Given the description of an element on the screen output the (x, y) to click on. 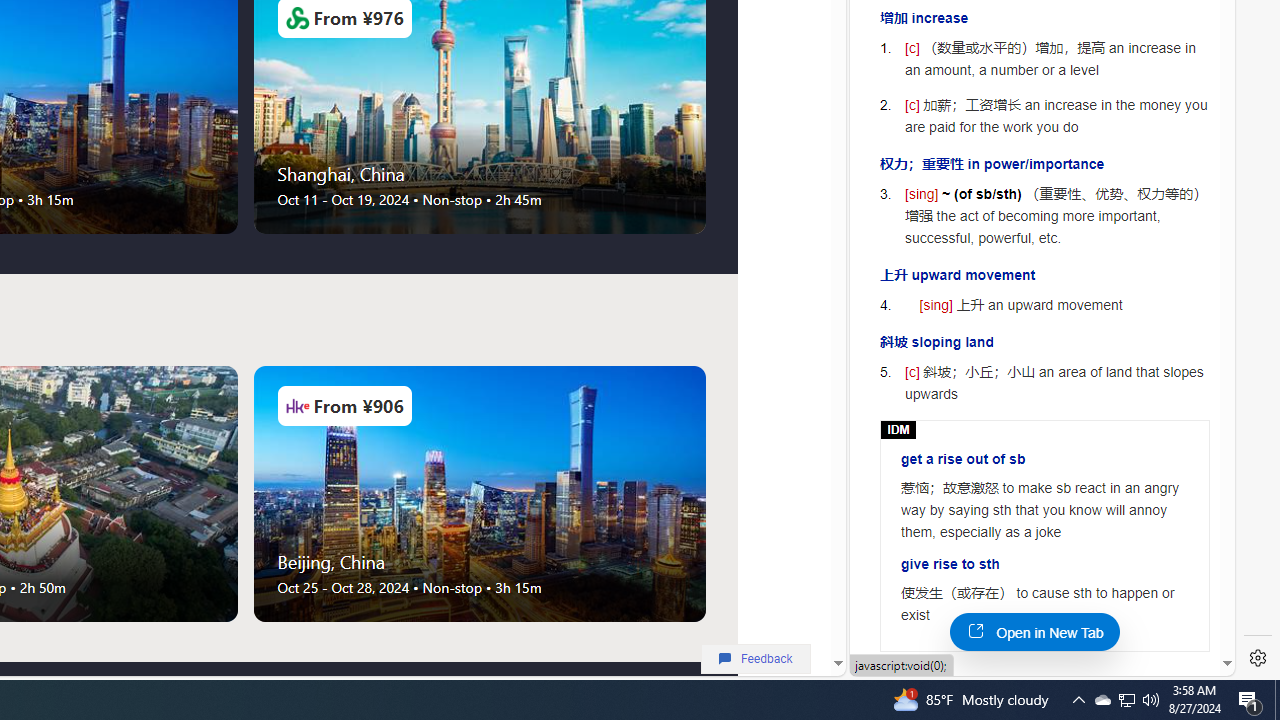
Airlines Logo (297, 405)
AutomationID: posbtn_1 (908, 680)
Click to scroll right (704, 493)
